Given the description of an element on the screen output the (x, y) to click on. 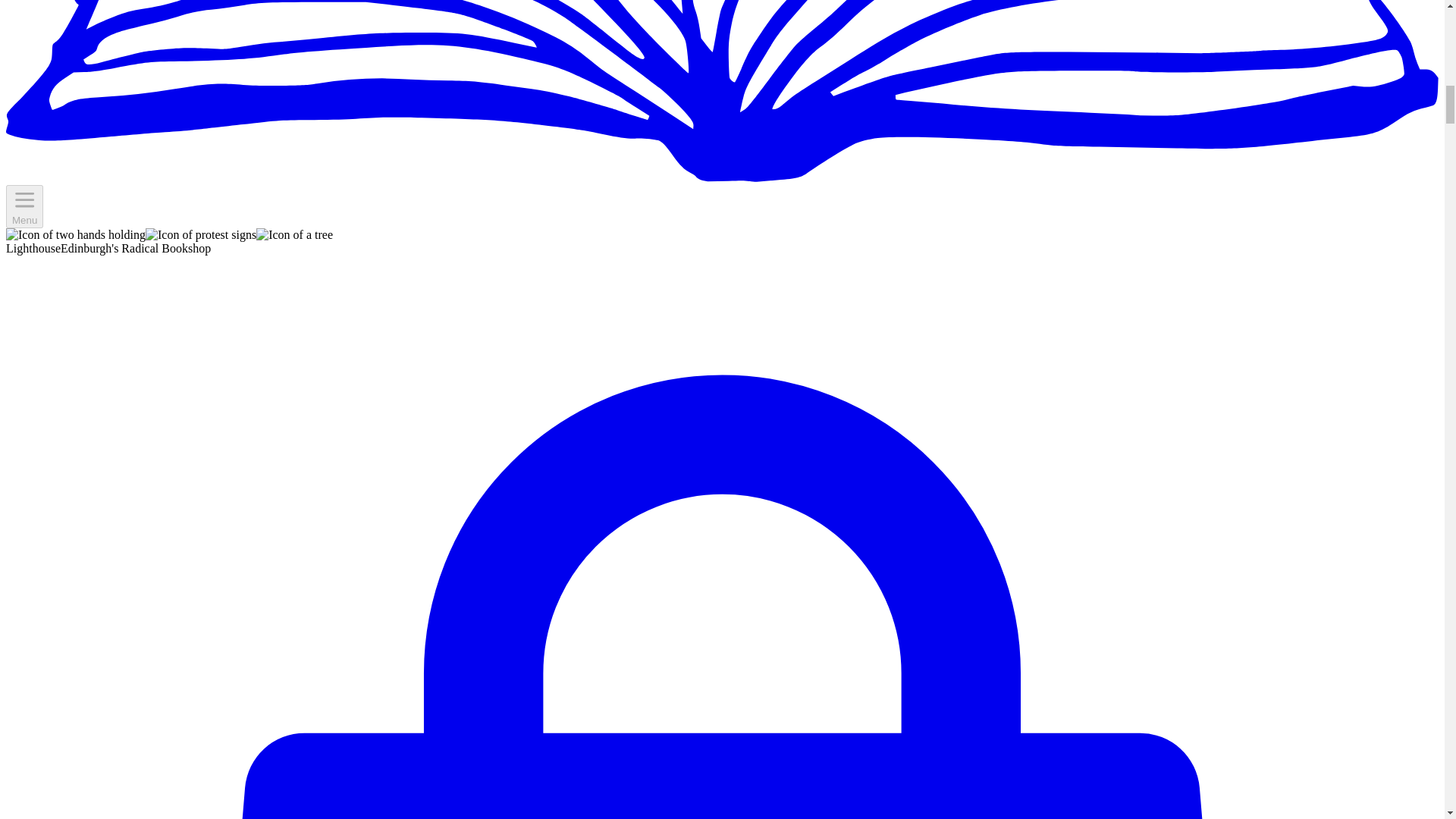
Menu (24, 206)
